Given the description of an element on the screen output the (x, y) to click on. 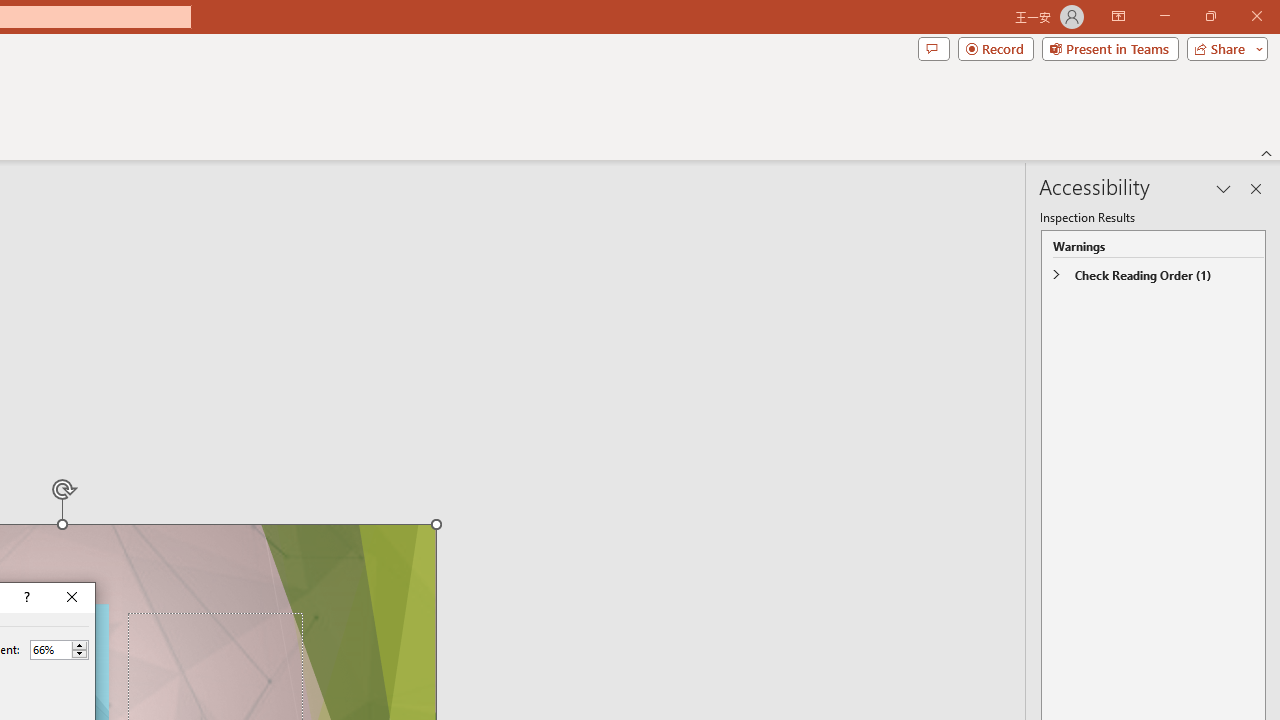
More (79, 645)
Less (79, 654)
Percent (59, 650)
Context help (25, 597)
Percent (50, 649)
